Given the description of an element on the screen output the (x, y) to click on. 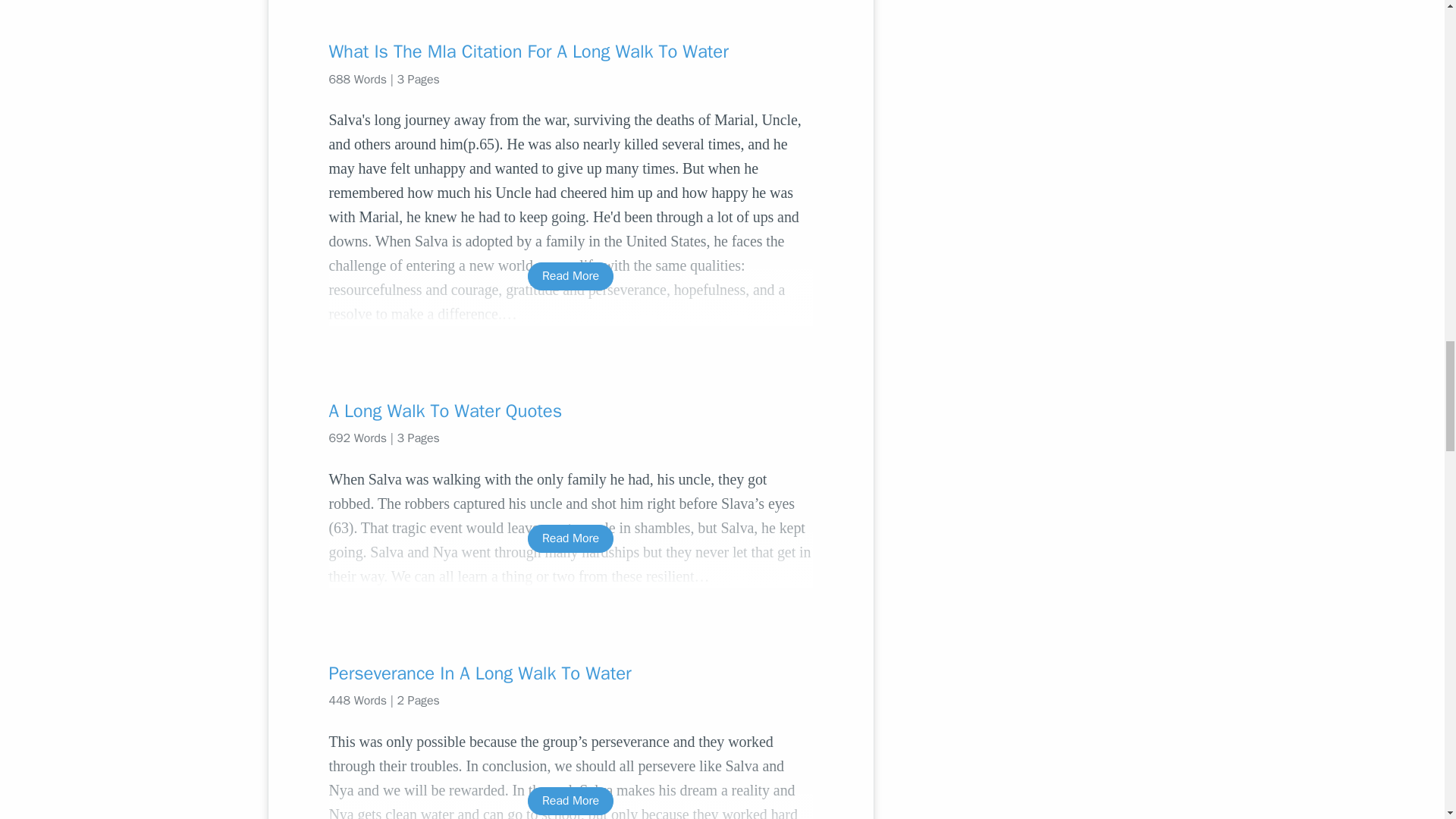
Read More (569, 800)
Read More (569, 538)
Perseverance In A Long Walk To Water (570, 672)
A Long Walk To Water Quotes (570, 410)
Read More (569, 276)
What Is The Mla Citation For A Long Walk To Water (570, 51)
